Given the description of an element on the screen output the (x, y) to click on. 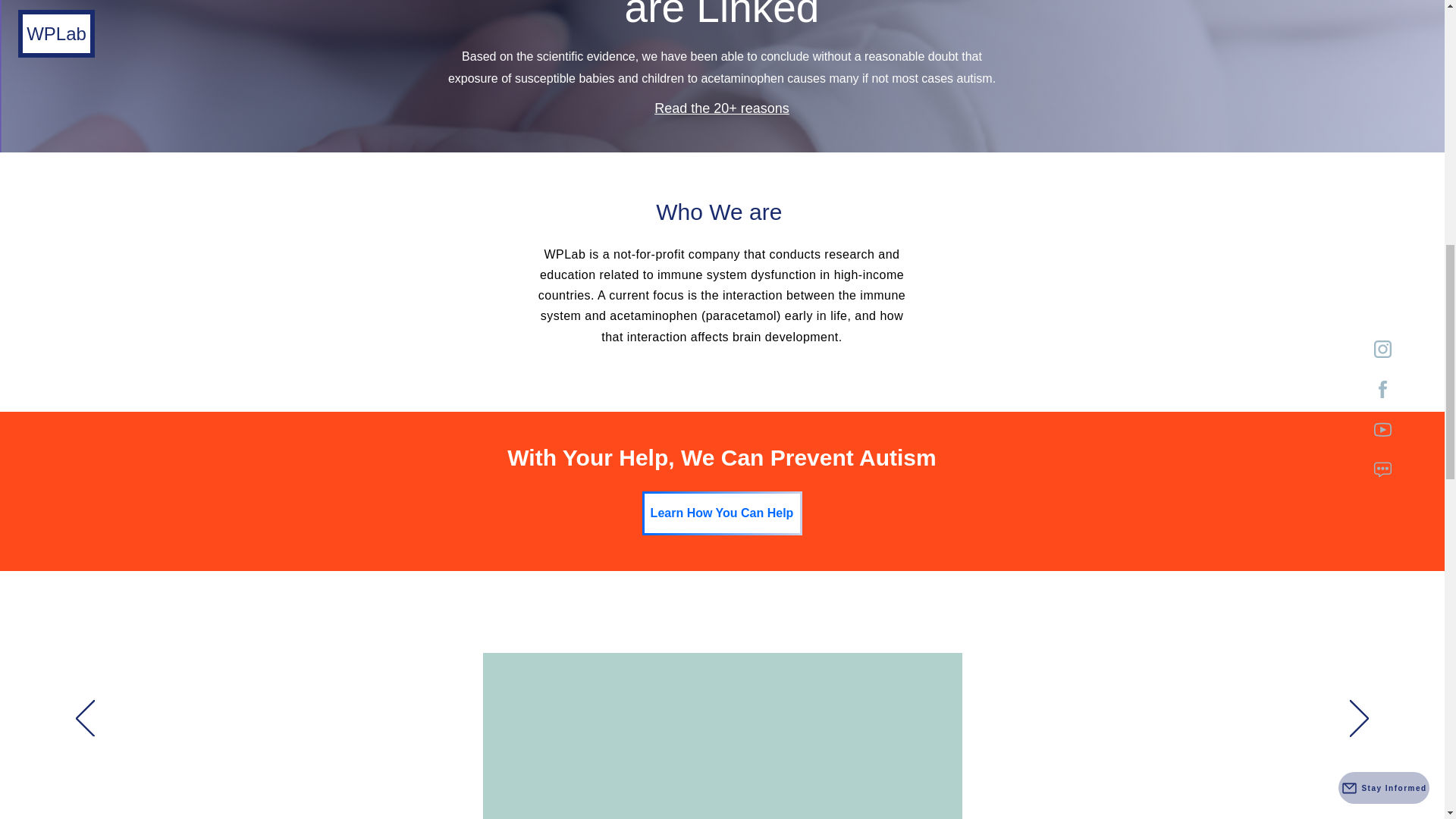
Learn How You Can Help (722, 513)
